Given the description of an element on the screen output the (x, y) to click on. 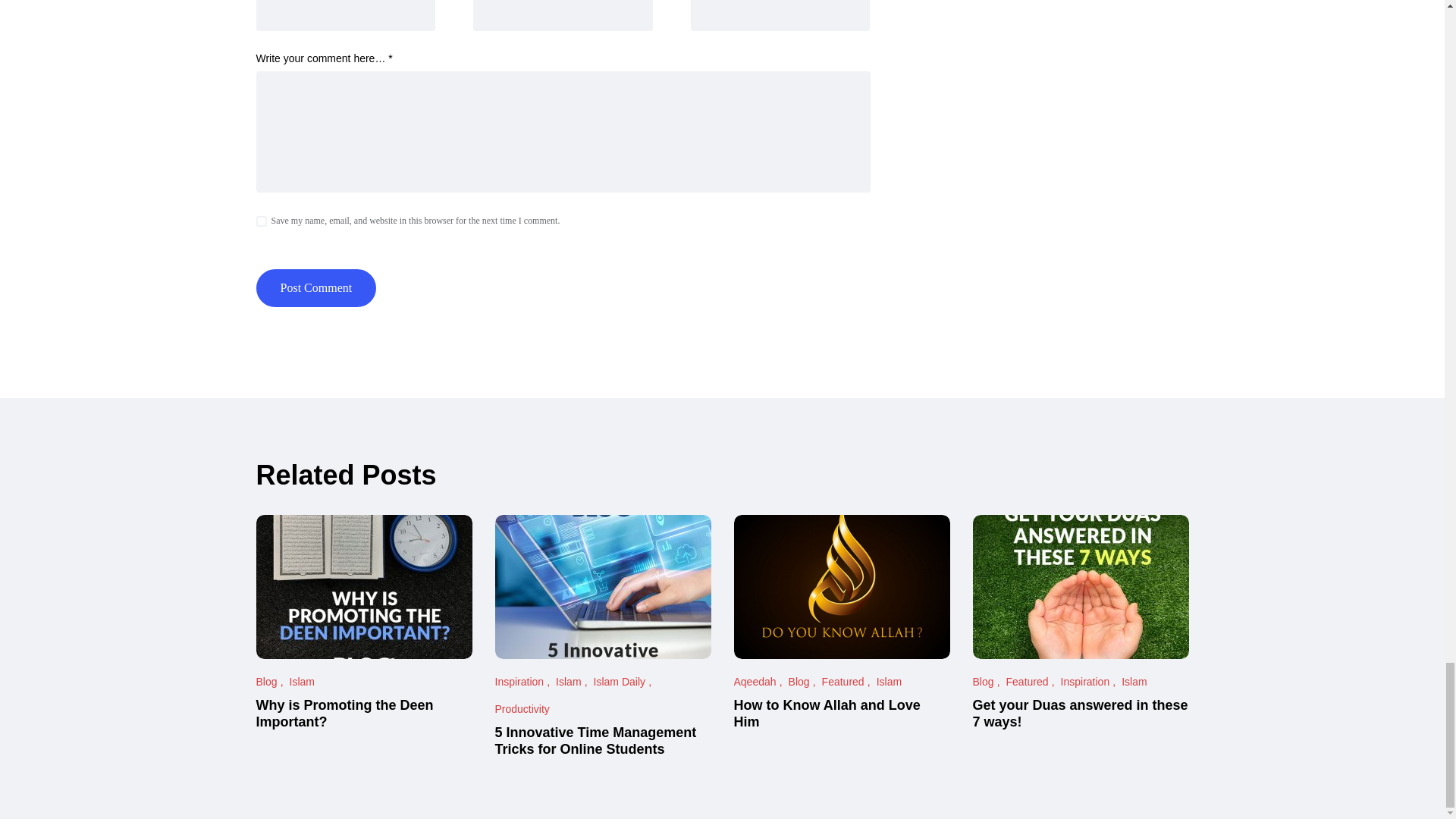
Post Comment (316, 288)
